Given the description of an element on the screen output the (x, y) to click on. 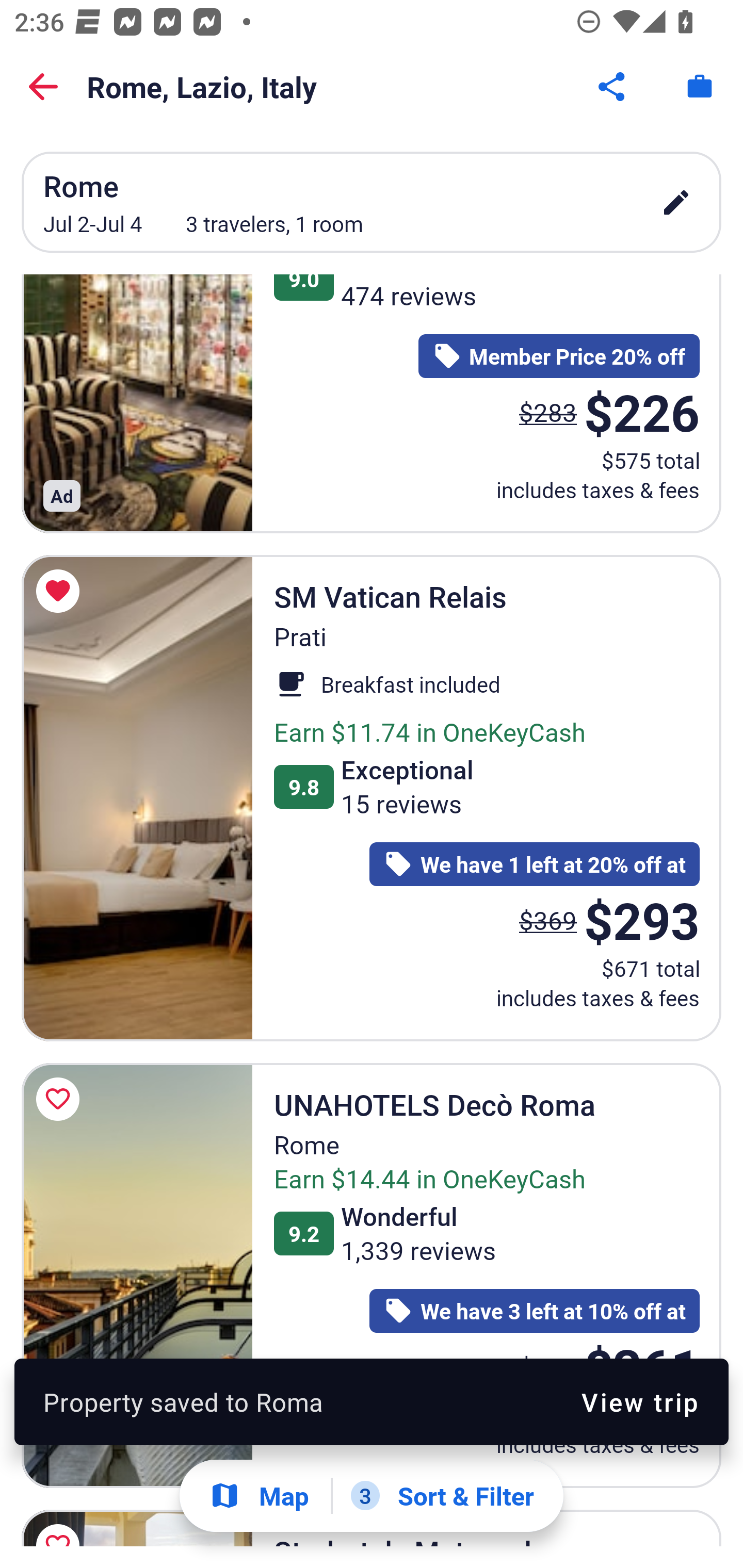
Back (43, 86)
Share Button (612, 86)
Trips. Button (699, 86)
Rome Jul 2-Jul 4 3 travelers, 1 room edit (371, 202)
Mama Shelter Roma  (136, 403)
$283 The price was $283 (547, 411)
Remove SM Vatican Relais from a trip (61, 591)
SM Vatican Relais (136, 798)
$369 The price was $369 (547, 919)
Save UNAHOTELS Decò Roma to a trip (61, 1099)
UNAHOTELS Decò Roma (136, 1275)
View trip (640, 1401)
3 Sort & Filter 3 Filters applied. Filters Button (442, 1495)
Show map Map Show map Button (258, 1495)
